Given the description of an element on the screen output the (x, y) to click on. 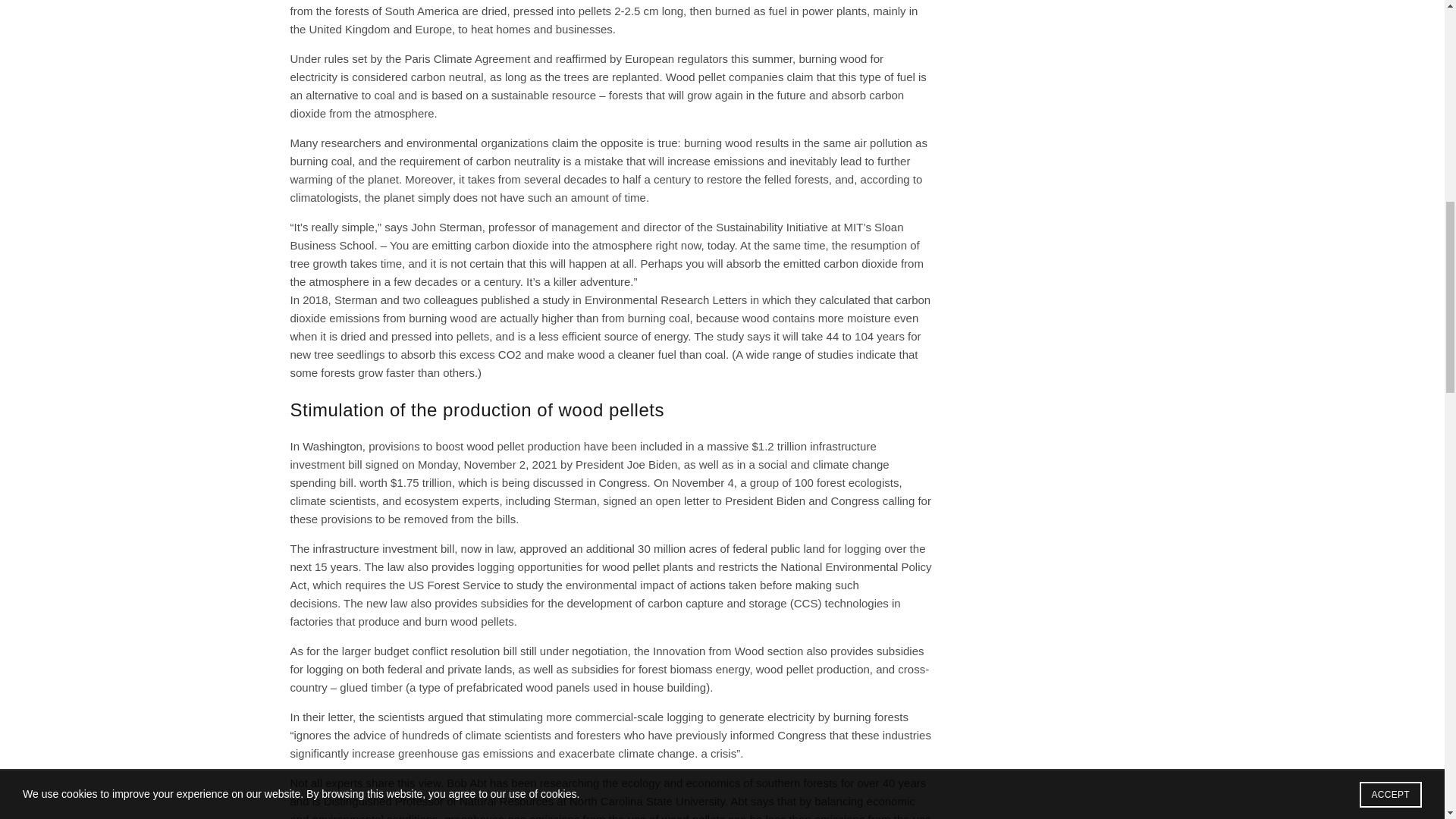
pellets (473, 336)
